Given the description of an element on the screen output the (x, y) to click on. 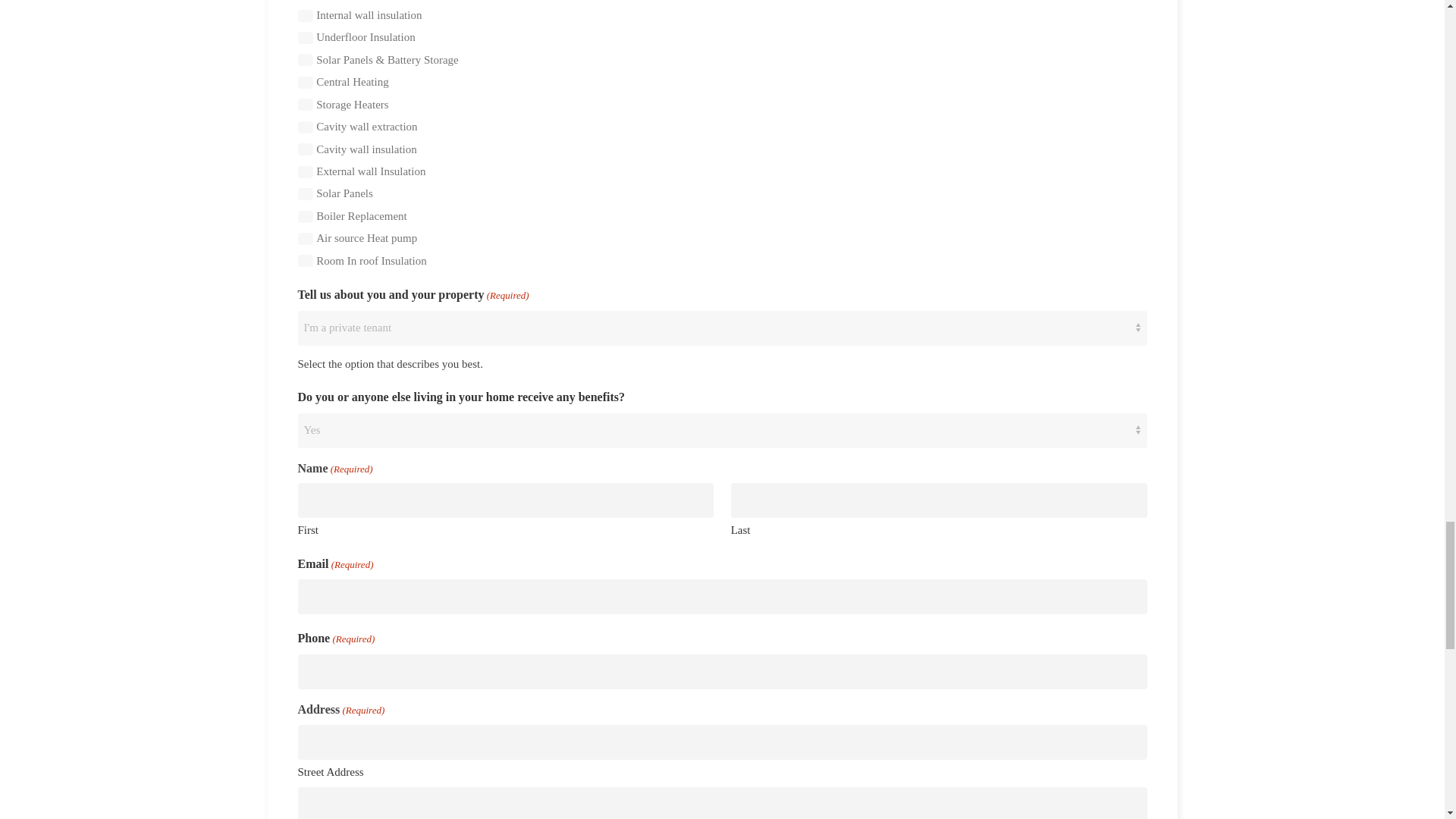
Boiler Replacement (305, 216)
Underfloor Insulation (305, 37)
Cavity wall extraction (305, 127)
Storage Heaters (305, 104)
Air source Heat pump (305, 238)
Cavity wall insulation (305, 149)
Internal wall insulation (305, 15)
Room In roof Insulation (305, 260)
Central Heating (305, 82)
Solar Panels (305, 193)
